Given the description of an element on the screen output the (x, y) to click on. 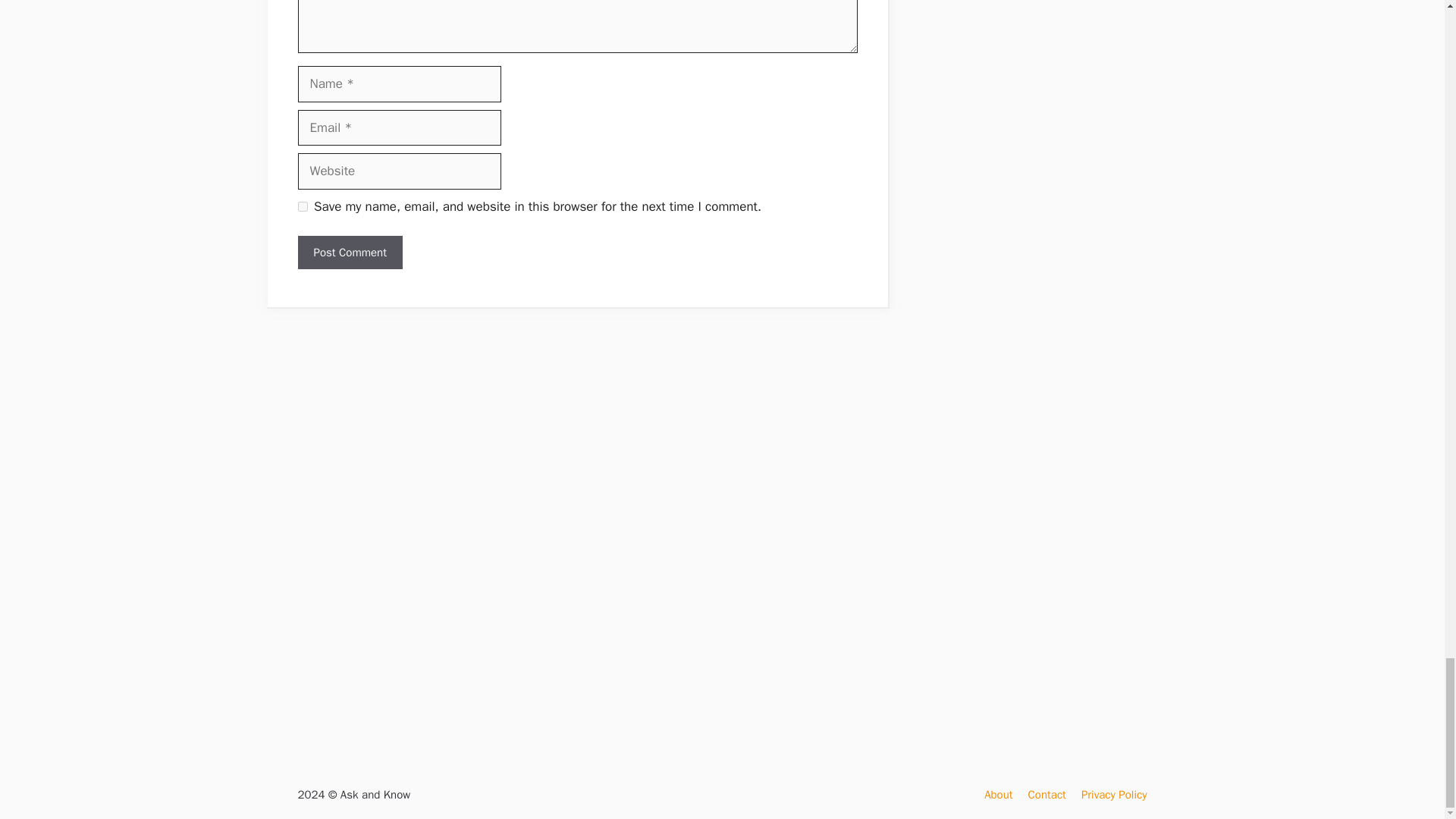
Post Comment (349, 252)
Contact (1046, 794)
yes (302, 206)
Privacy Policy (1114, 794)
Post Comment (349, 252)
About (997, 794)
